Given the description of an element on the screen output the (x, y) to click on. 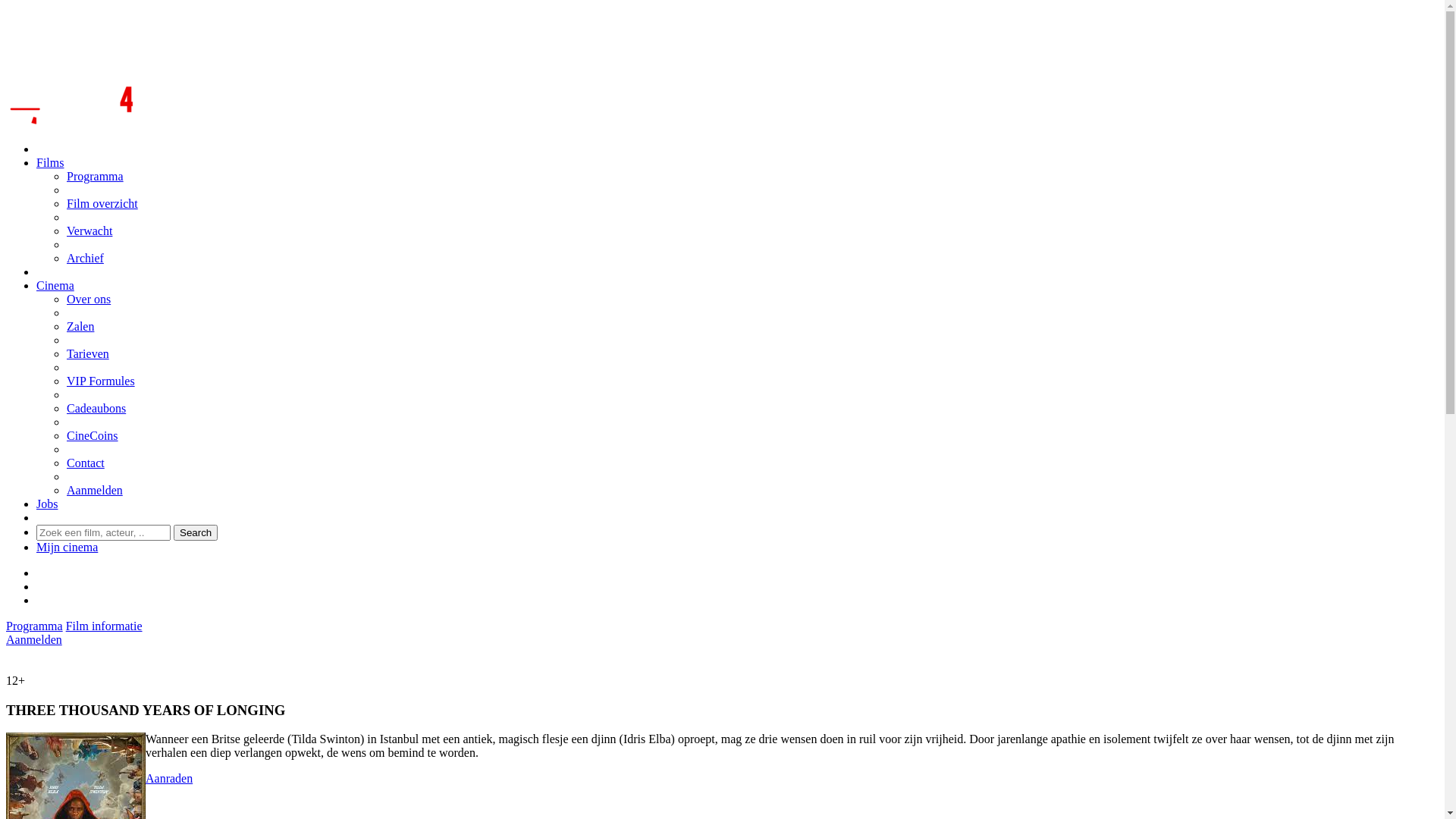
Archief Element type: text (84, 257)
Aanraden Element type: text (168, 777)
Contact Element type: text (85, 462)
VIP Formules Element type: text (100, 380)
Mijn cinema Element type: text (66, 546)
Programma Element type: text (34, 625)
Search Element type: text (195, 532)
Film overzicht Element type: text (102, 203)
Verwacht Element type: text (89, 230)
Programma Element type: text (94, 175)
Tarieven Element type: text (87, 353)
Zalen Element type: text (80, 326)
Over ons Element type: text (88, 298)
CineCoins Element type: text (92, 435)
Cadeaubons Element type: text (95, 407)
Film informatie Element type: text (103, 625)
Aanmelden Element type: text (34, 639)
Aanmelden Element type: text (94, 489)
Cinema Element type: text (55, 285)
Films Element type: text (49, 162)
Jobs Element type: text (46, 503)
